Given the description of an element on the screen output the (x, y) to click on. 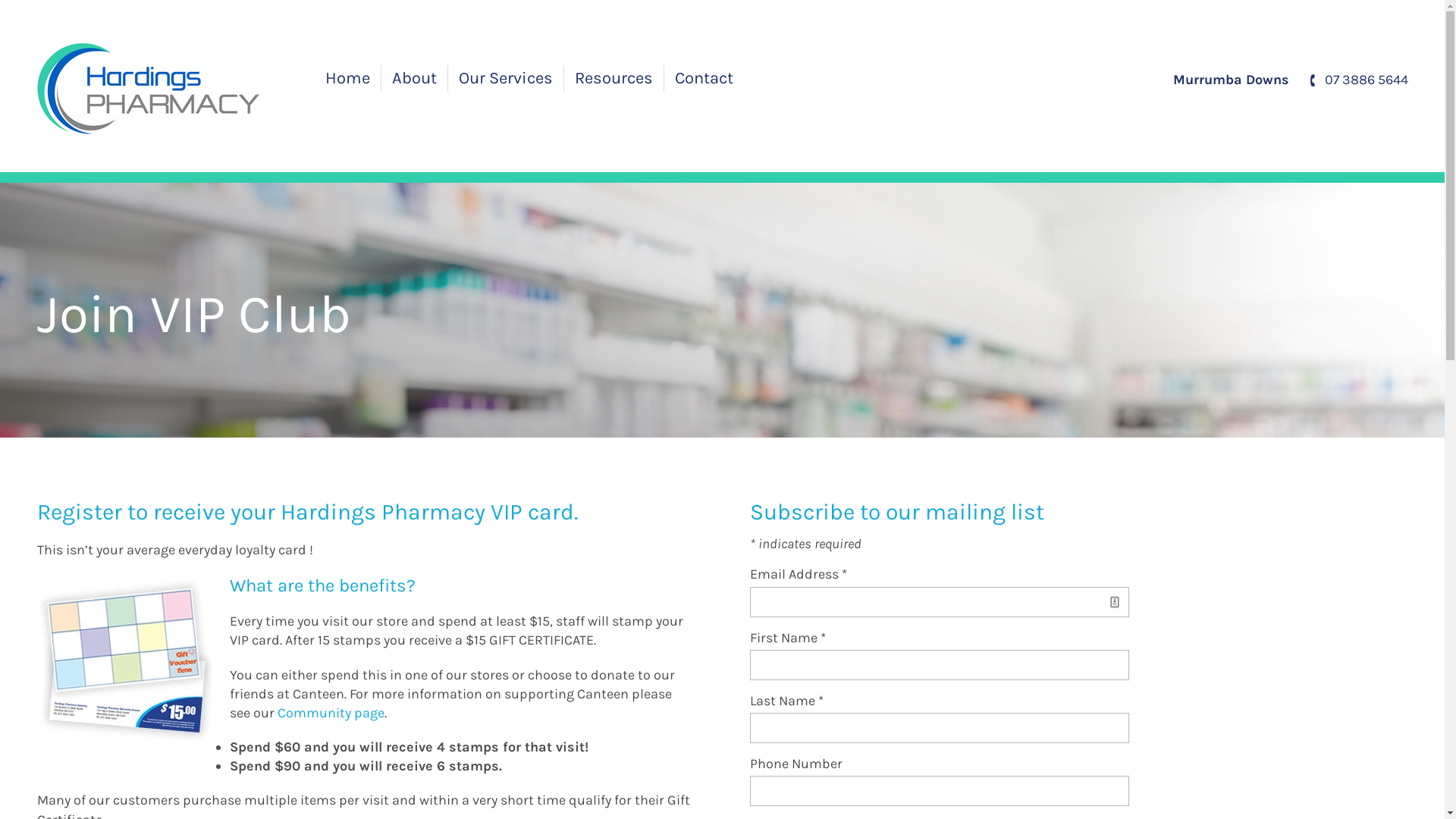
Home Element type: text (347, 78)
Community page Element type: text (330, 712)
Contact Element type: text (702, 78)
Murrumba Downs Element type: text (1230, 79)
Our Services Element type: text (505, 78)
Resources Element type: text (612, 78)
About Element type: text (414, 78)
